Given the description of an element on the screen output the (x, y) to click on. 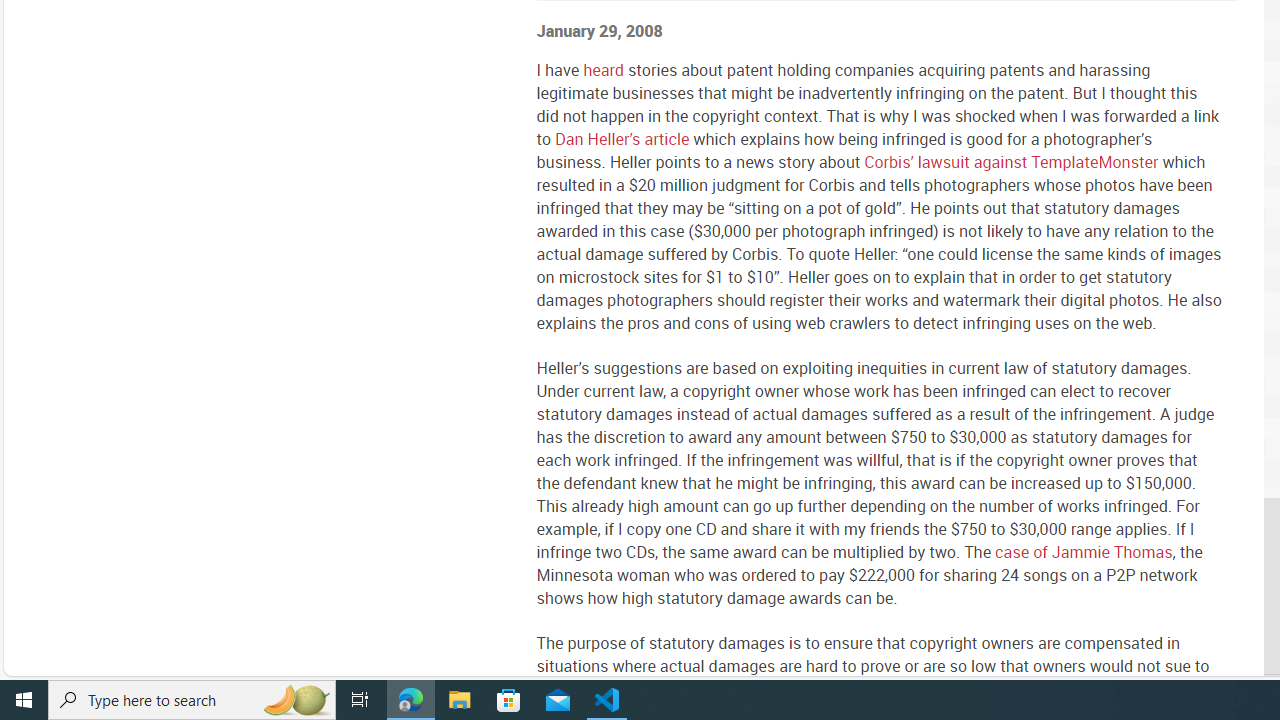
case of Jammie Thomas (1083, 551)
heard (603, 69)
